Given the description of an element on the screen output the (x, y) to click on. 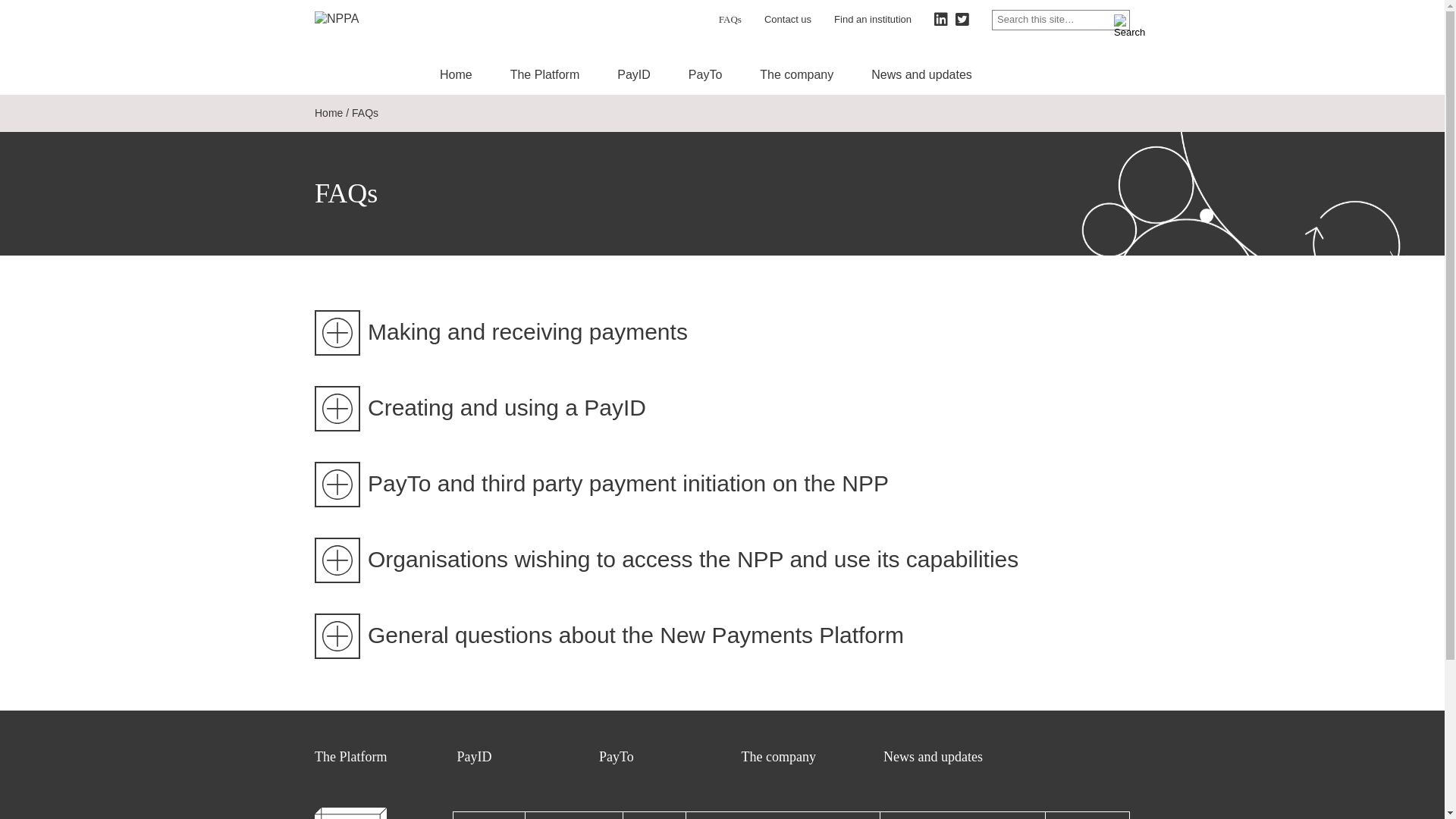
The Platform Element type: text (350, 756)
General questions about the New Payments Platform Element type: text (721, 634)
Home Element type: text (328, 112)
PayID Element type: text (473, 756)
Making and receiving payments Element type: text (721, 331)
Find an institution Element type: text (872, 19)
The company Element type: text (778, 756)
Creating and using a PayID Element type: text (721, 406)
News and updates Element type: text (932, 756)
PayTo and third party payment initiation on the NPP Element type: text (721, 482)
Home Element type: text (455, 74)
PayTo Element type: text (704, 74)
Search for: Element type: hover (1060, 19)
FAQs Element type: text (729, 19)
Contact us Element type: text (787, 19)
PayID Element type: text (633, 74)
News and updates Element type: text (921, 74)
The Platform Element type: text (545, 74)
PayTo Element type: text (616, 756)
The company Element type: text (796, 74)
NPPA Element type: hover (350, 19)
